Given the description of an element on the screen output the (x, y) to click on. 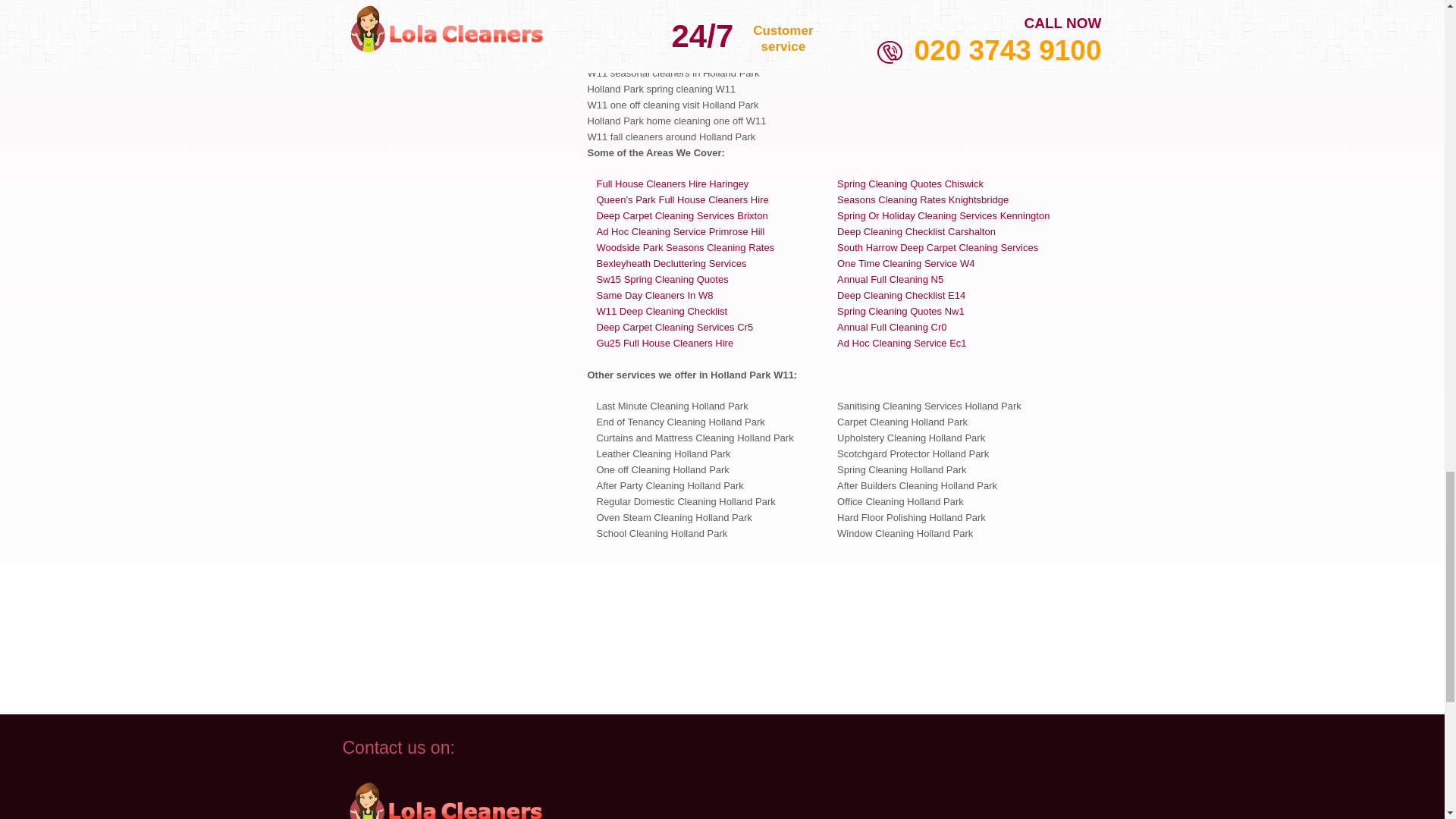
SW9 Deep Carpet Cleaning Services Brixton (681, 215)
NW1 Ad Hoc Cleaning Service Primrose Hill (679, 231)
SM5 Deep Cleaning Checklist Carshalton (916, 231)
Kensington Same Day Cleaners In W8 (654, 295)
DA6 Bexleyheath Decluttering Services (670, 263)
SW3 Seasons Cleaning Rates Knightsbridge (923, 199)
Canary Wharf Deep Cleaning Checklist E14 (901, 295)
Ravenscourt Park One Time Cleaning Service W4 (905, 263)
SE11 Spring Or Holiday Cleaning Services Kennington (943, 215)
N12 Woodside Park Seasons Cleaning Rates (684, 247)
